Given the description of an element on the screen output the (x, y) to click on. 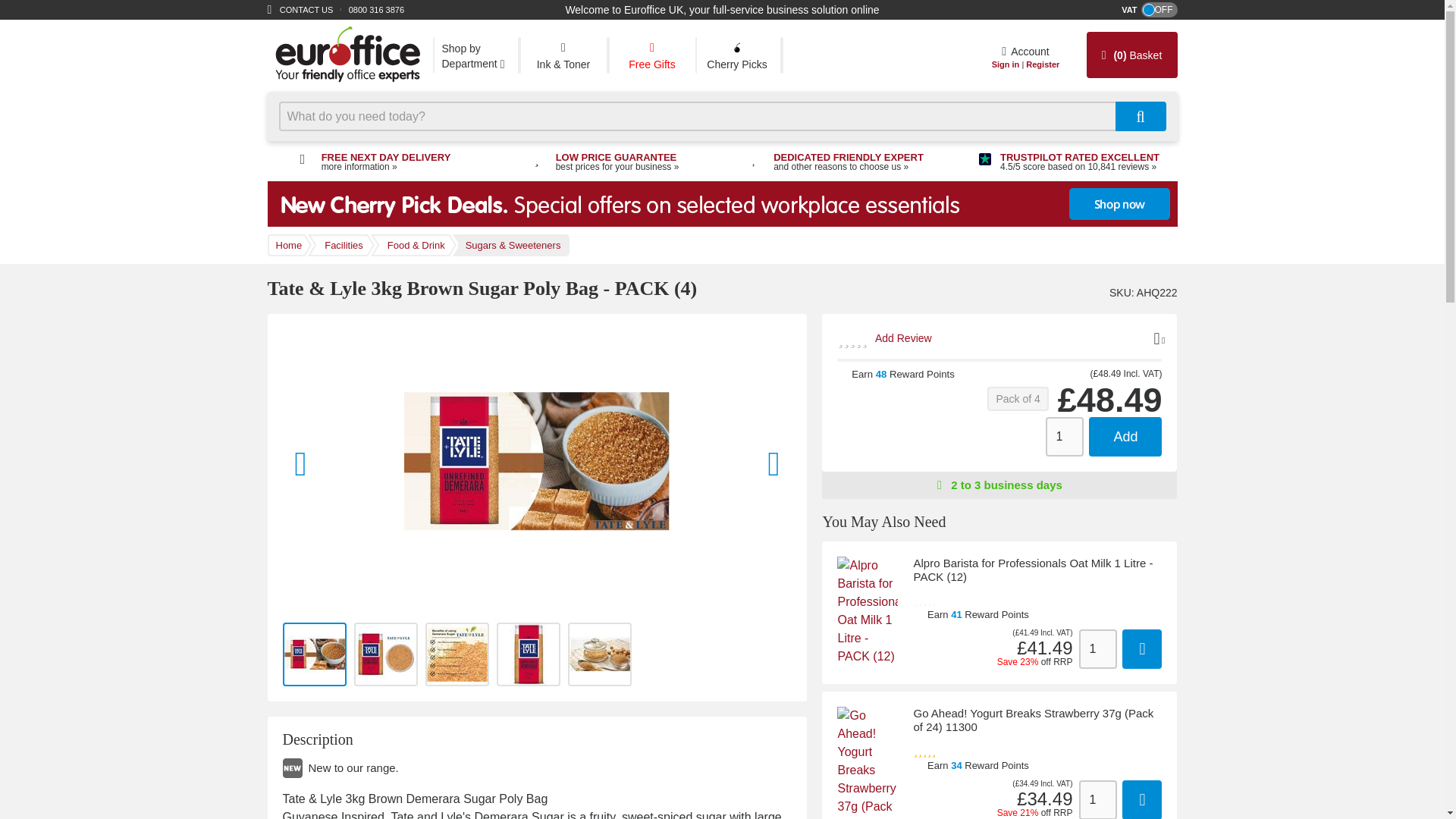
Stock-Keeping Unit (1120, 292)
1 (1064, 436)
Cherry Picks (736, 55)
Free Gifts (652, 55)
1 (1097, 649)
New to our range. (401, 768)
Shop by Department (474, 55)
0800 316 3876 (376, 9)
Free Gifts (652, 55)
CONTACT US (306, 9)
Find out how to contact us (306, 9)
Home (346, 55)
1 (1097, 799)
0800 316 3876 (376, 9)
Search (1140, 116)
